Given the description of an element on the screen output the (x, y) to click on. 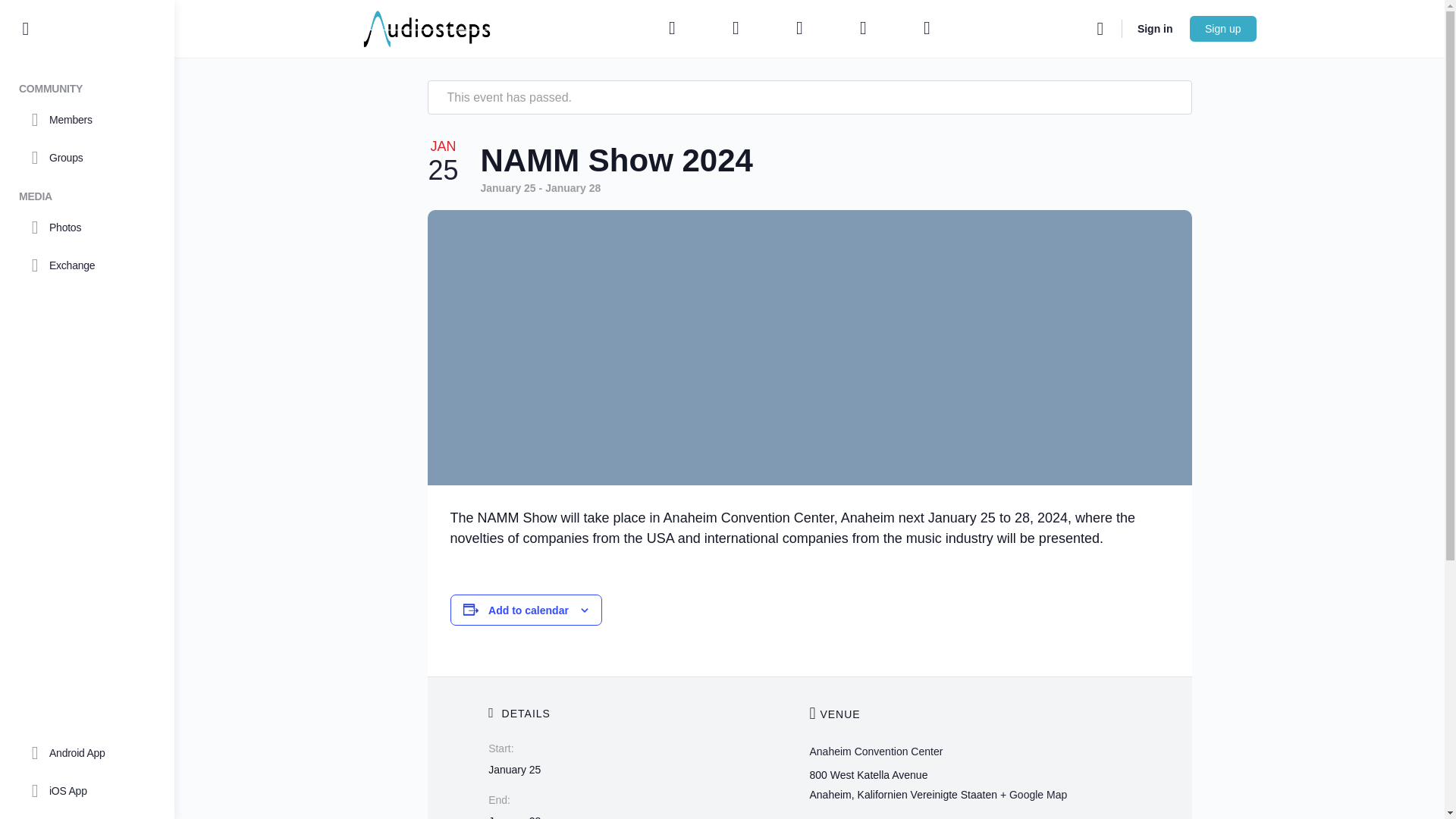
Android App (86, 752)
2024-01-25 (513, 769)
MEDIA (87, 193)
iOS App (86, 790)
Members (86, 119)
Groups (86, 157)
Photos (86, 227)
Click to view a Google Map (1033, 794)
Sign up (1222, 28)
2024-01-28 (513, 816)
